Given the description of an element on the screen output the (x, y) to click on. 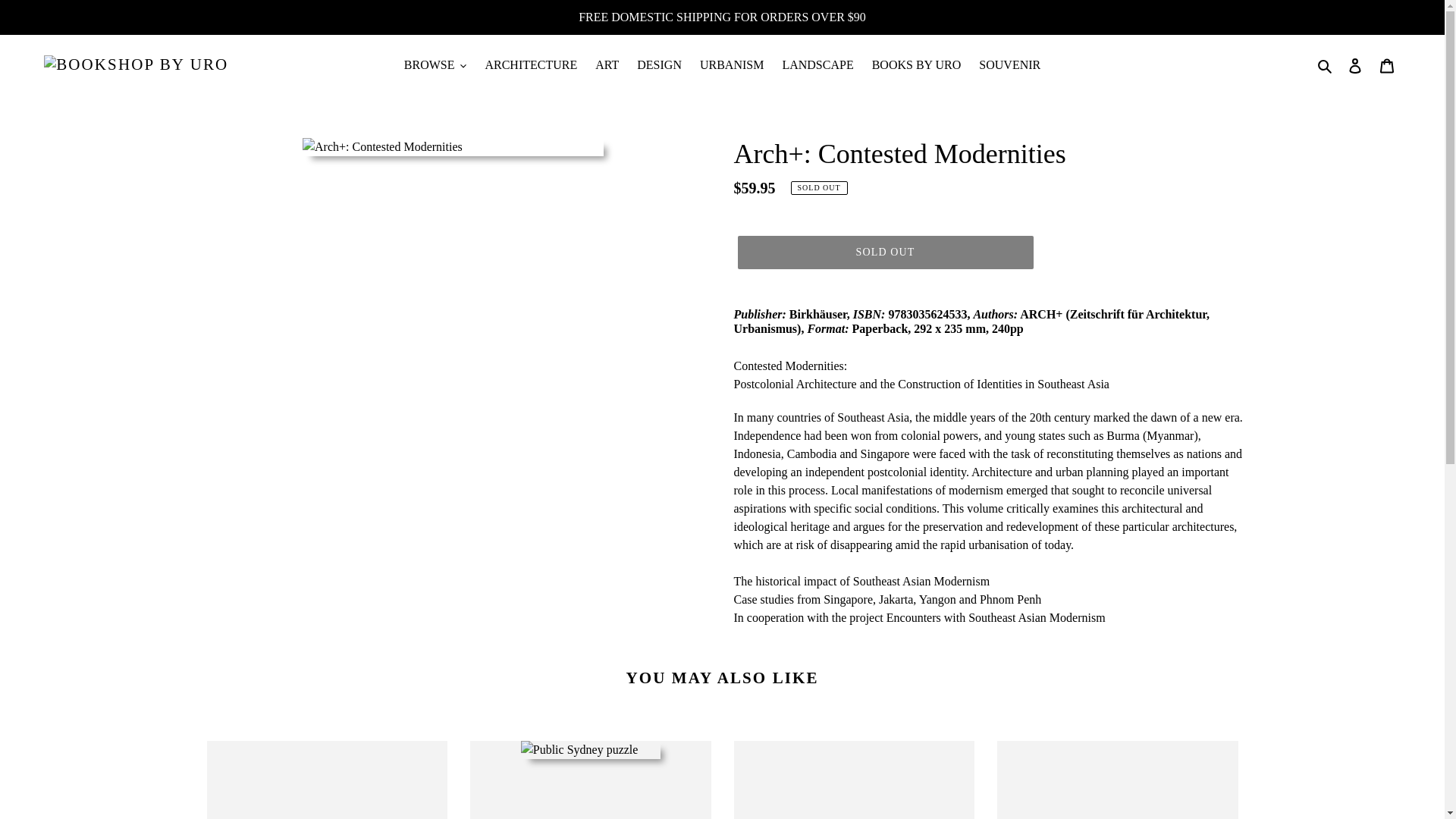
Cart (1387, 64)
LANDSCAPE (817, 65)
BOOKS BY URO (916, 65)
BROWSE (435, 65)
Log in (1355, 64)
URBANISM (732, 65)
ARCHITECTURE (531, 65)
SOUVENIR (1009, 65)
Search (1326, 65)
ART (607, 65)
